Given the description of an element on the screen output the (x, y) to click on. 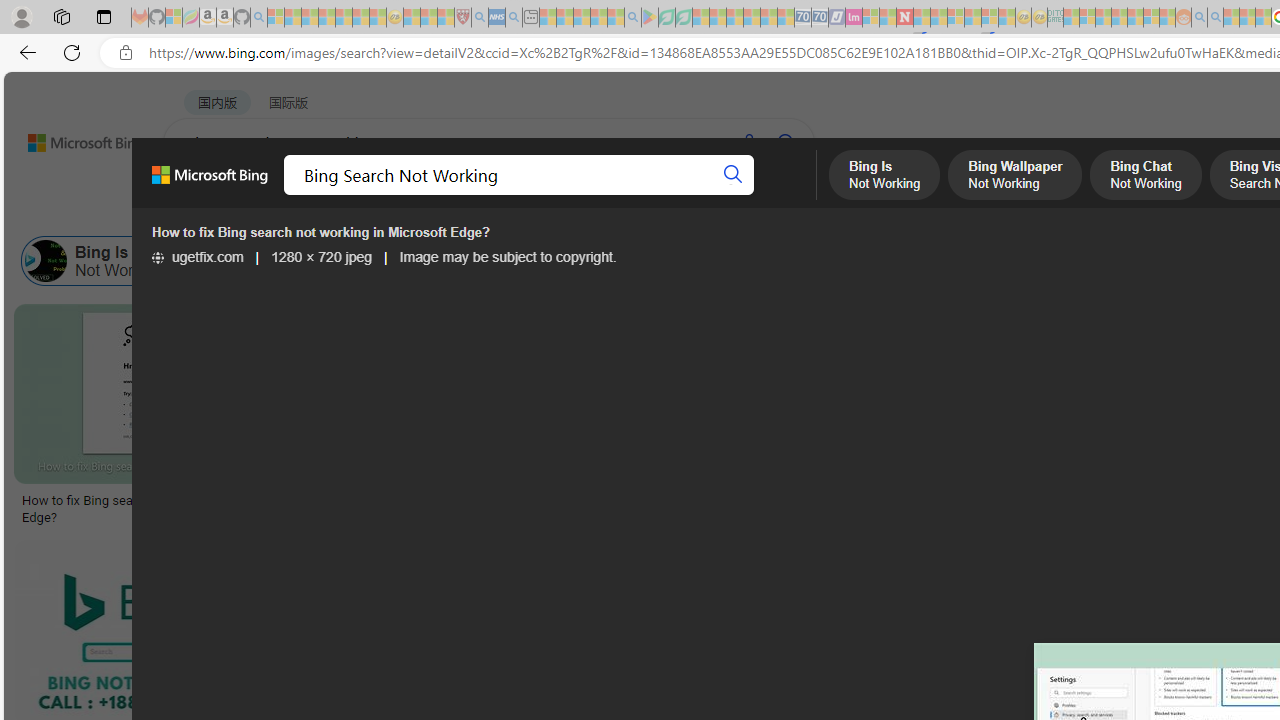
DICT (717, 195)
New tab - Sleeping (530, 17)
Class: b_pri_nav_svg (423, 196)
Bing Visual Search Not Working (670, 260)
Search using voice (748, 142)
MY BING (276, 195)
Expert Portfolios - Sleeping (1119, 17)
DITOGAMES AG Imprint - Sleeping (1055, 17)
